Given the description of an element on the screen output the (x, y) to click on. 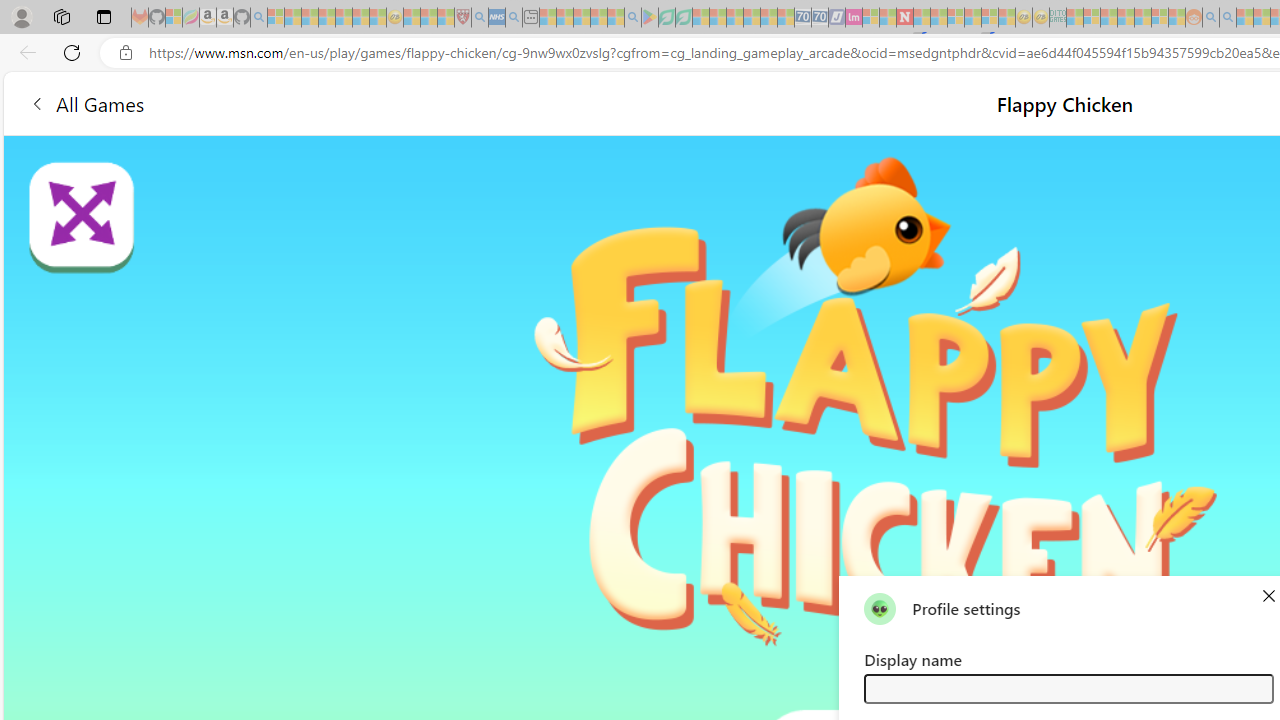
Expert Portfolios - Sleeping (1125, 17)
DITOGAMES AG Imprint - Sleeping (1057, 17)
utah sues federal government - Search - Sleeping (513, 17)
Terms of Use Agreement - Sleeping (666, 17)
Pets - MSN - Sleeping (598, 17)
New Report Confirms 2023 Was Record Hot | Watch - Sleeping (343, 17)
""'s avatar (880, 608)
MSNBC - MSN - Sleeping (1074, 17)
